Given the description of an element on the screen output the (x, y) to click on. 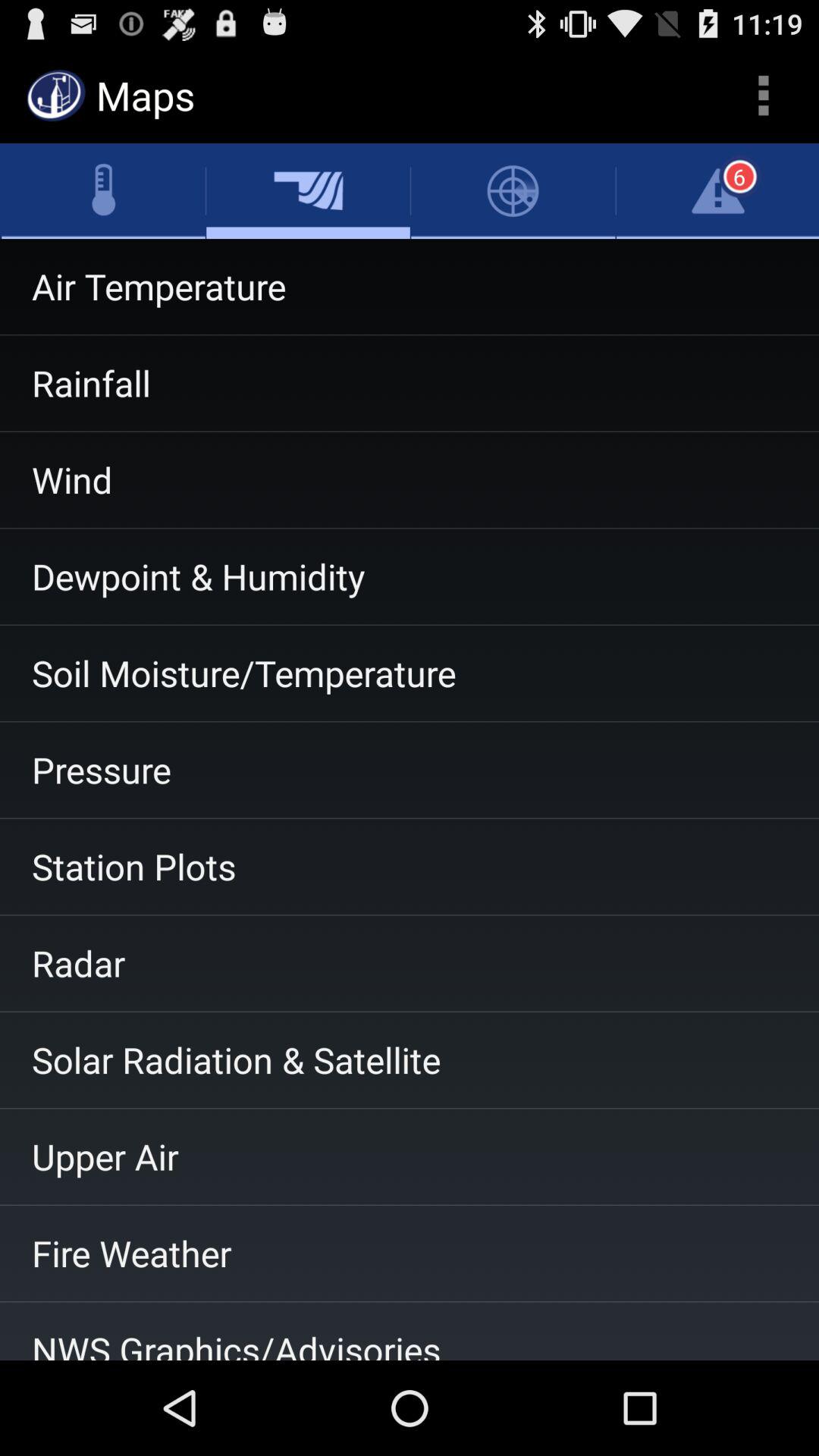
choose the wind (409, 479)
